Given the description of an element on the screen output the (x, y) to click on. 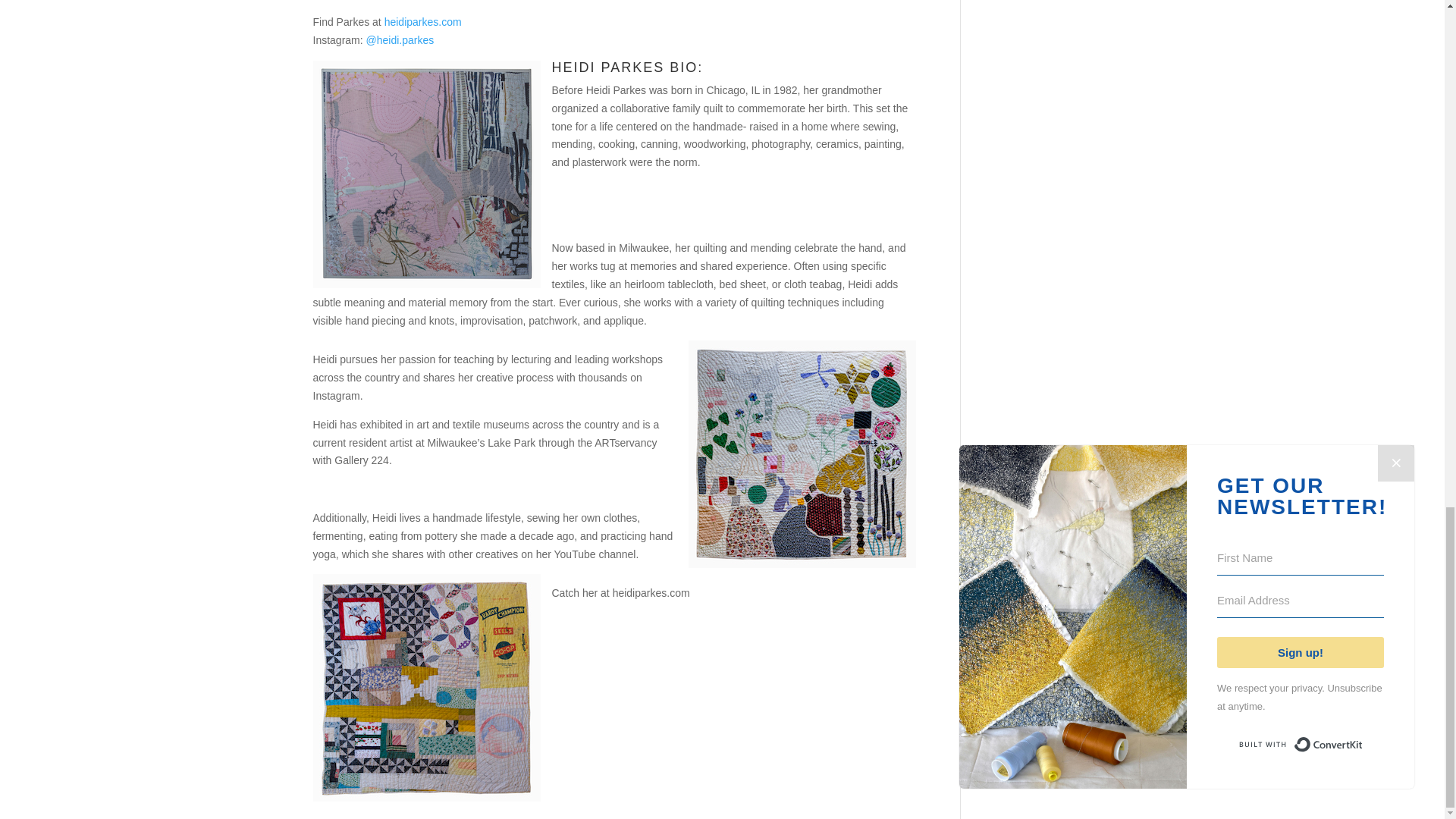
heidiparkes.com (422, 21)
